Given the description of an element on the screen output the (x, y) to click on. 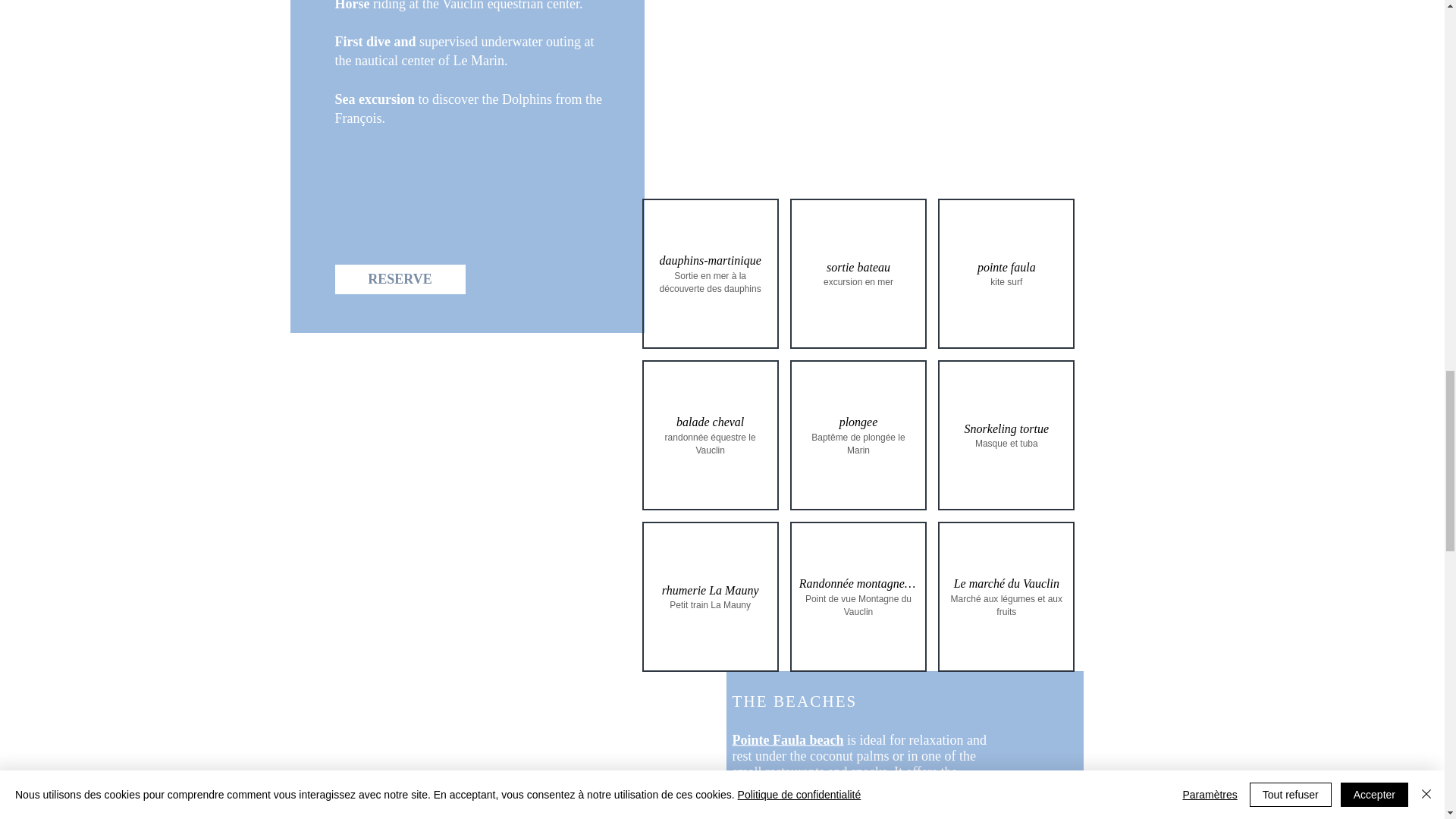
RESERVE (399, 279)
